Given the description of an element on the screen output the (x, y) to click on. 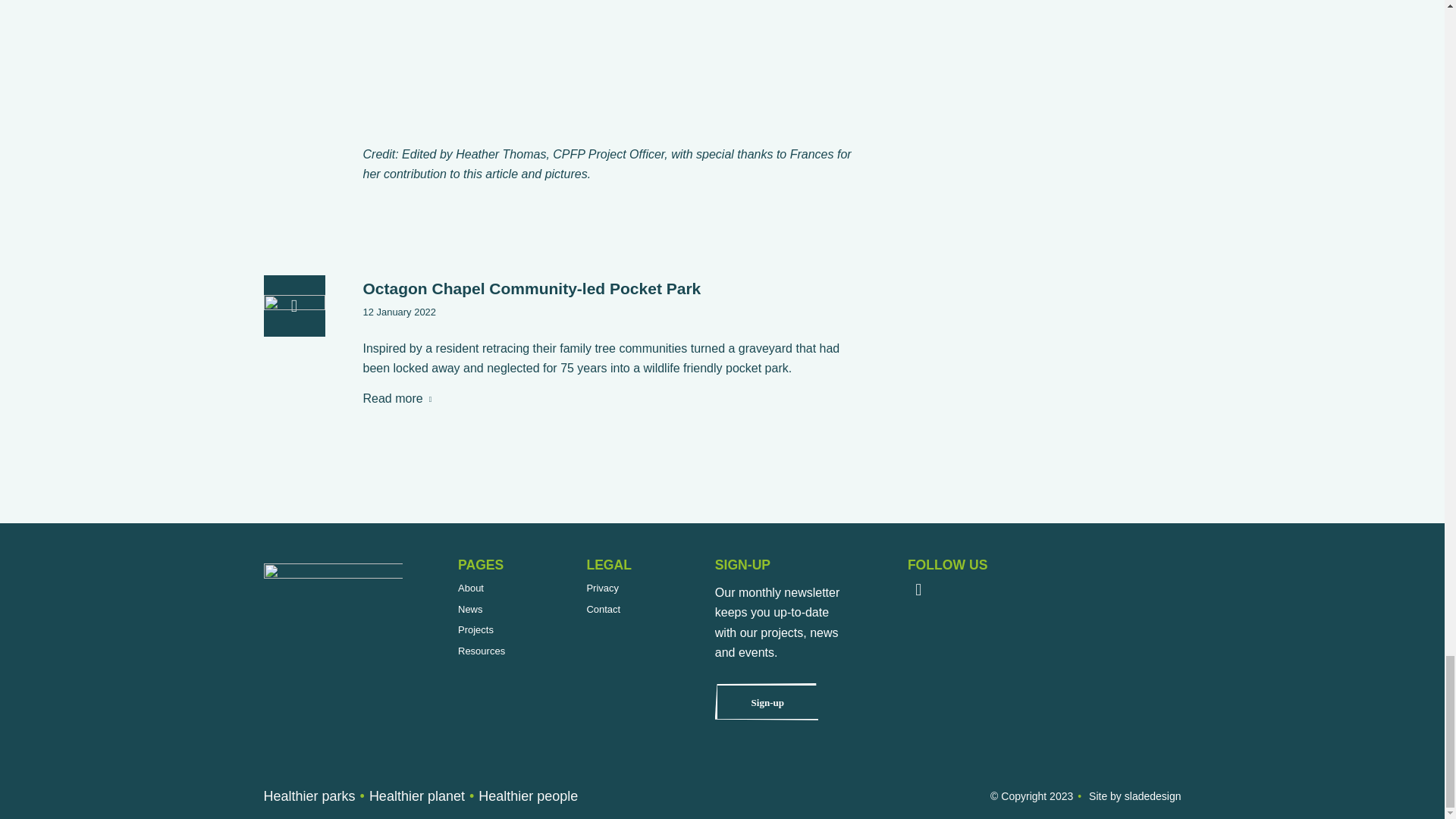
Sign-up (767, 702)
Contact (603, 609)
News (470, 609)
Projects (475, 629)
sladedesign (1152, 796)
About (470, 588)
Privacy (602, 588)
Permanent Link: Octagon Chapel Community-led Pocket Park (531, 288)
Octagon Chapel Community-led Pocket Park (531, 288)
Resources (481, 651)
